Given the description of an element on the screen output the (x, y) to click on. 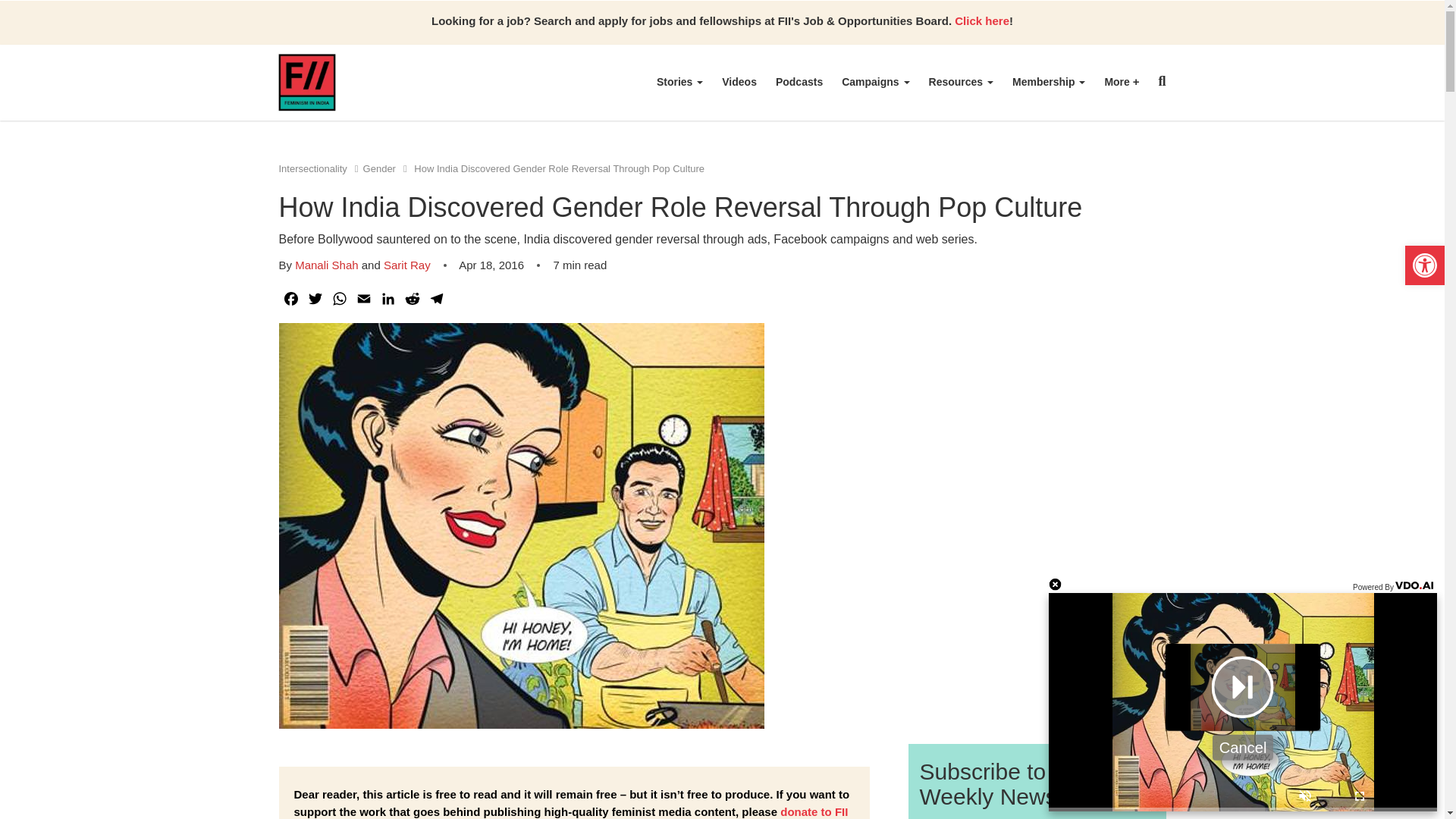
Accessibility Tools (1424, 265)
